Given the description of an element on the screen output the (x, y) to click on. 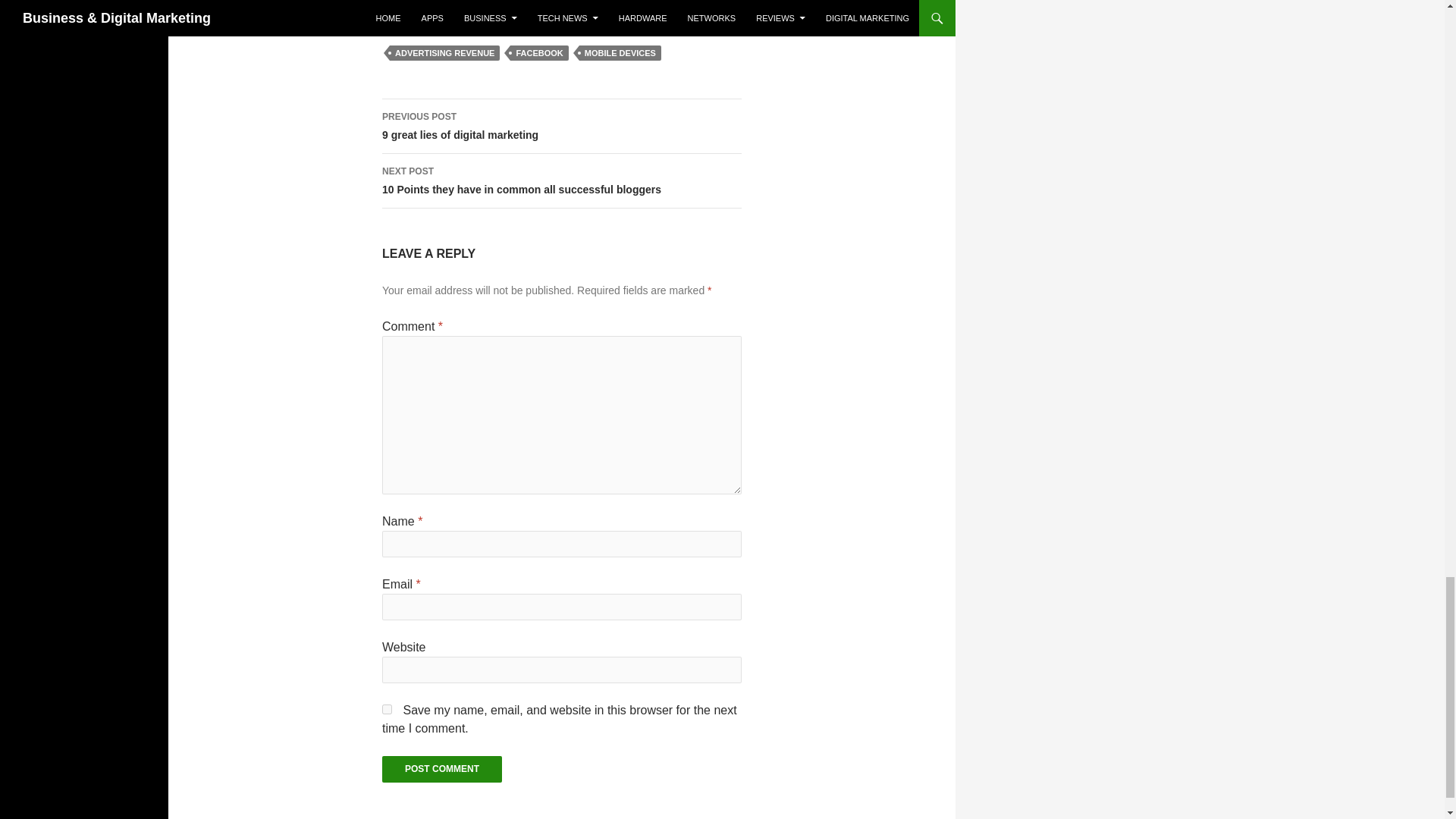
FACEBOOK (539, 52)
yes (386, 709)
Post Comment (441, 768)
MOBILE DEVICES (620, 52)
ADVERTISING REVENUE (444, 52)
Post Comment (561, 126)
